Given the description of an element on the screen output the (x, y) to click on. 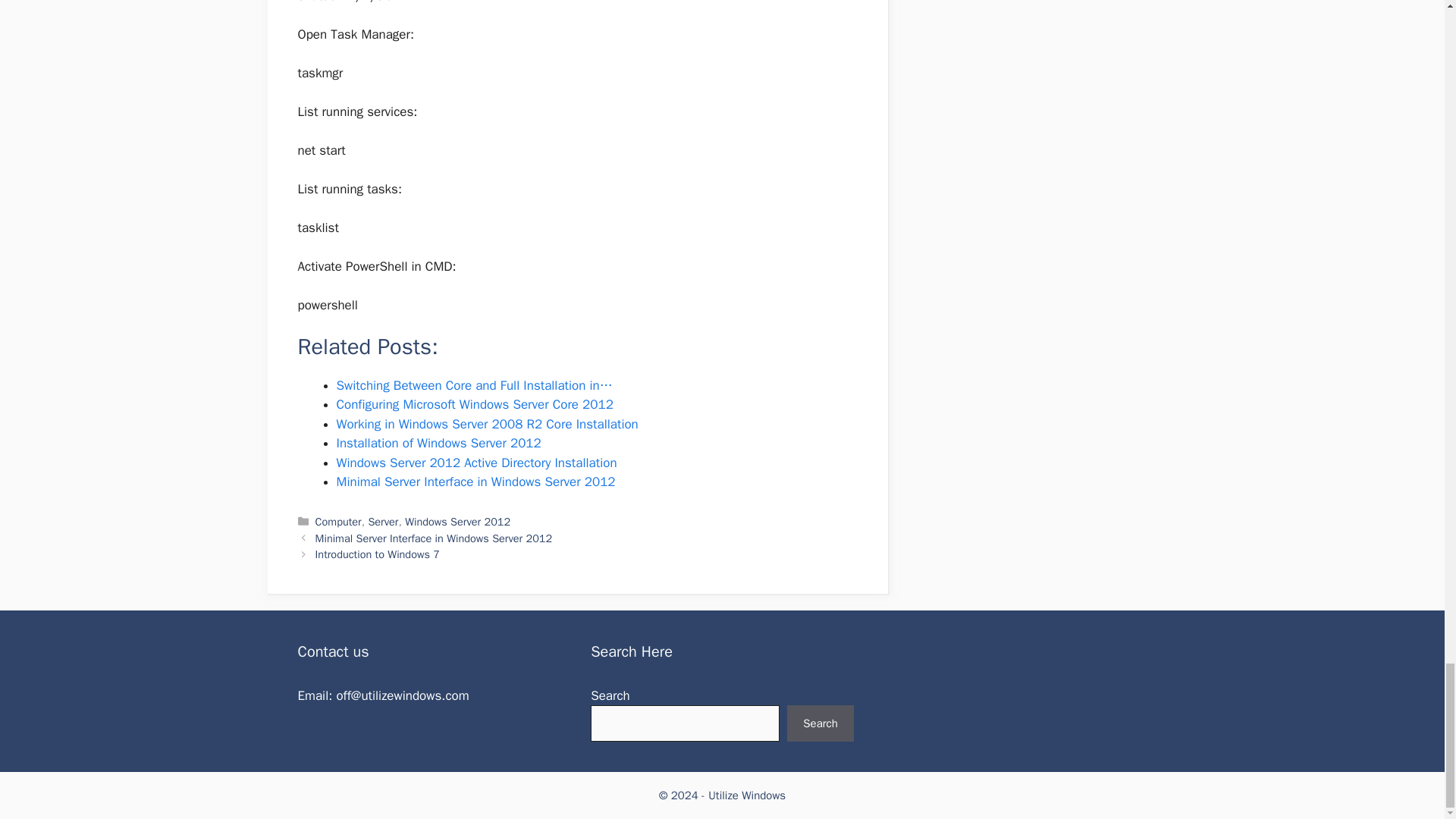
Working in Windows Server 2008 R2 Core Installation (487, 424)
Server (382, 521)
Introduction to Windows 7 (377, 554)
Minimal Server Interface in Windows Server 2012 (475, 481)
Windows Server 2012 Active Directory Installation (476, 462)
Windows Server 2012 (457, 521)
Configuring Microsoft Windows Server Core 2012 (474, 404)
Installation of Windows Server 2012 (438, 442)
Minimal Server Interface in Windows Server 2012 (434, 538)
Computer (338, 521)
